Given the description of an element on the screen output the (x, y) to click on. 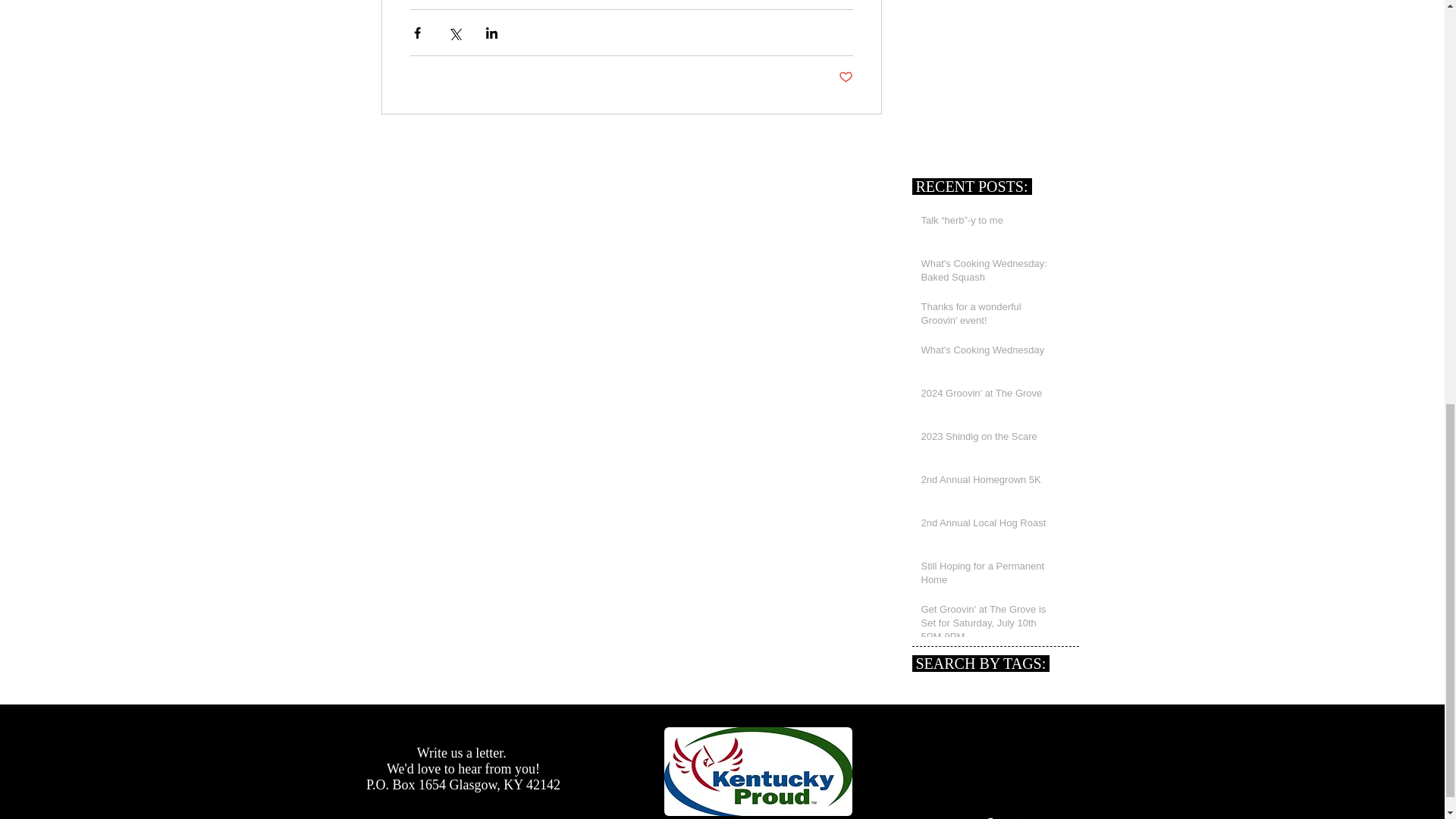
2023 Shindig on the Scare (989, 439)
What's Cooking Wednesday (989, 353)
2nd Annual Homegrown 5K (989, 483)
Post not marked as liked (845, 77)
Still Hoping for a Permanent Home (989, 575)
What's Cooking Wednesday: Baked Squash (989, 273)
2nd Annual Local Hog Roast (989, 526)
2024 Groovin' at The Grove (989, 396)
Thanks for a wonderful Groovin' event! (989, 316)
